Given the description of an element on the screen output the (x, y) to click on. 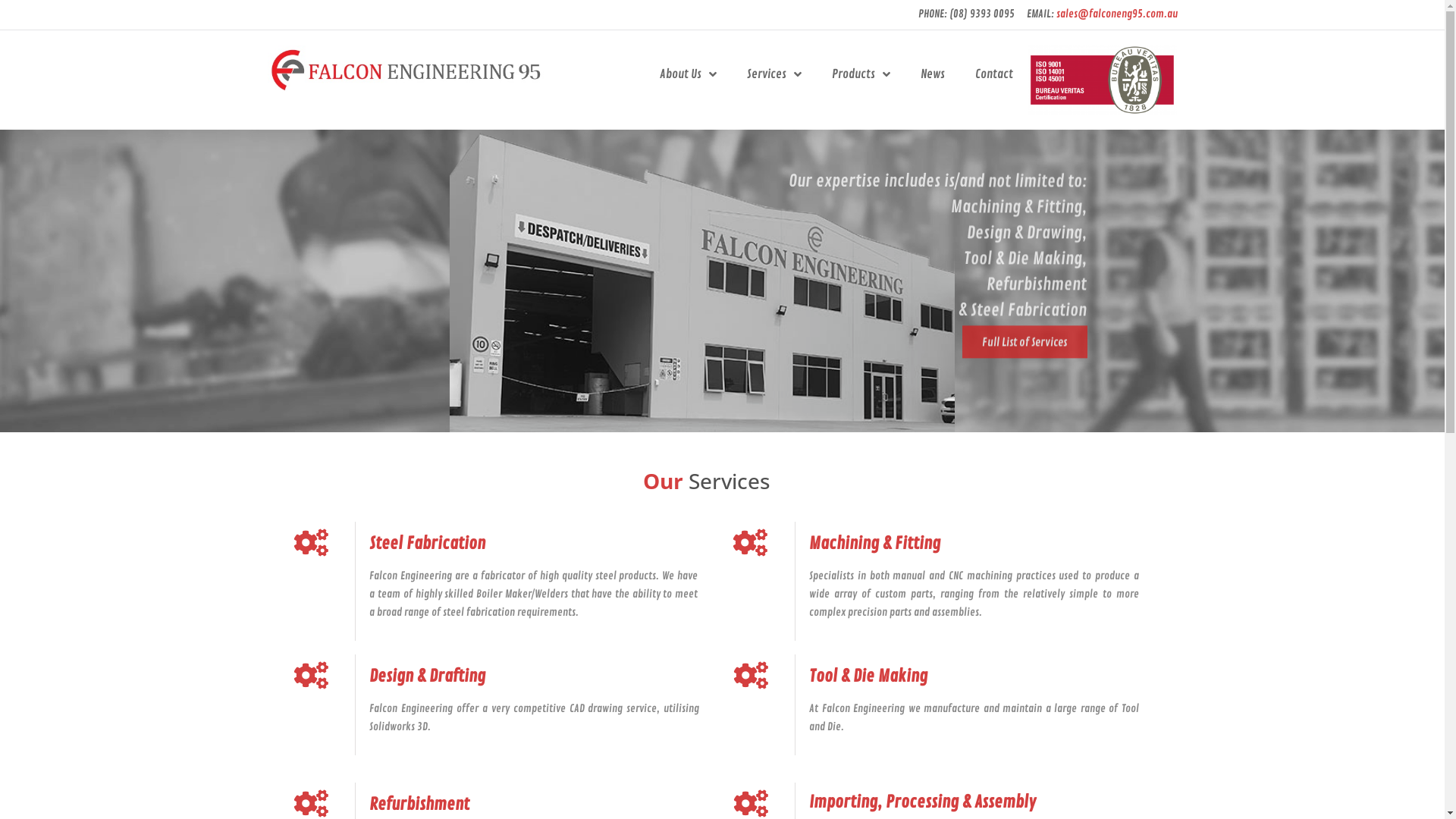
Contact Element type: text (994, 73)
Steel Fabrication Element type: text (427, 543)
News Element type: text (932, 73)
Refurbishment Element type: text (419, 804)
Products Element type: text (860, 73)
Services Element type: text (773, 73)
Design & Drafting Element type: text (427, 676)
Machining & Fitting Element type: text (874, 543)
sales@falconeng95.com.au Element type: text (1115, 13)
About Us Element type: text (687, 73)
Tool & Die Making Element type: text (868, 676)
